Given the description of an element on the screen output the (x, y) to click on. 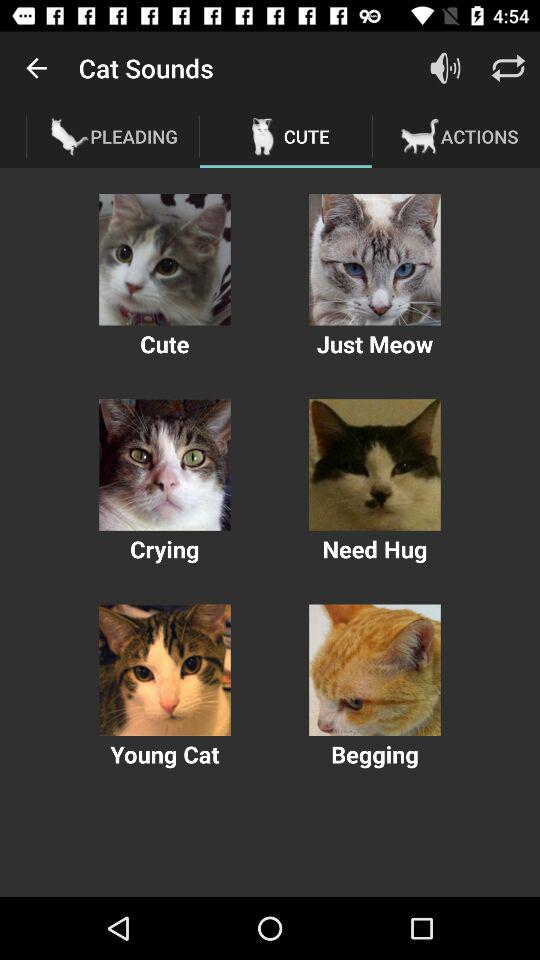
select the item next to the cute (444, 67)
